Given the description of an element on the screen output the (x, y) to click on. 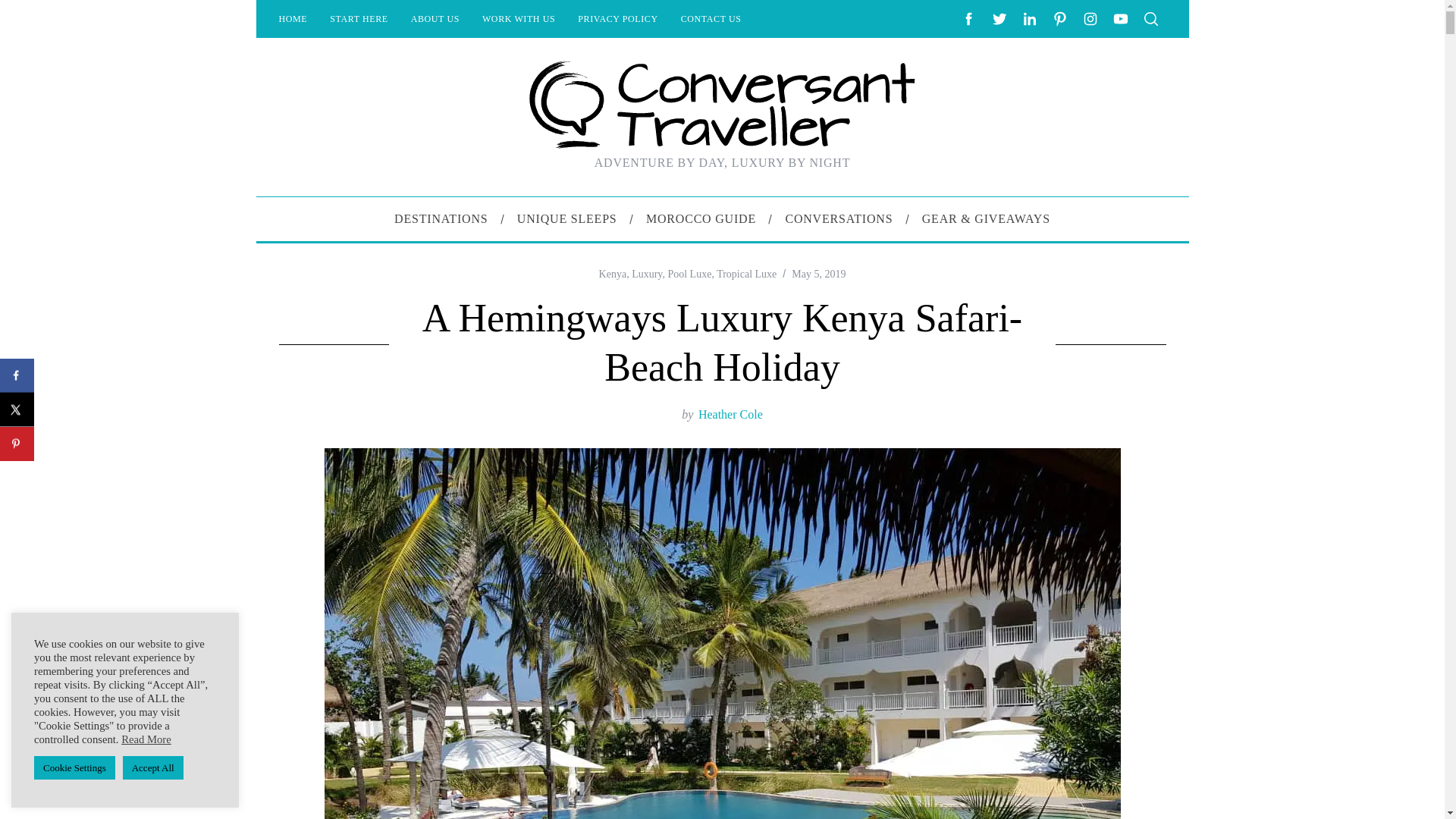
DESTINATIONS (441, 218)
HOME (292, 18)
CONTACT US (710, 18)
ABOUT US (434, 18)
PRIVACY POLICY (617, 18)
WORK WITH US (518, 18)
START HERE (358, 18)
